Given the description of an element on the screen output the (x, y) to click on. 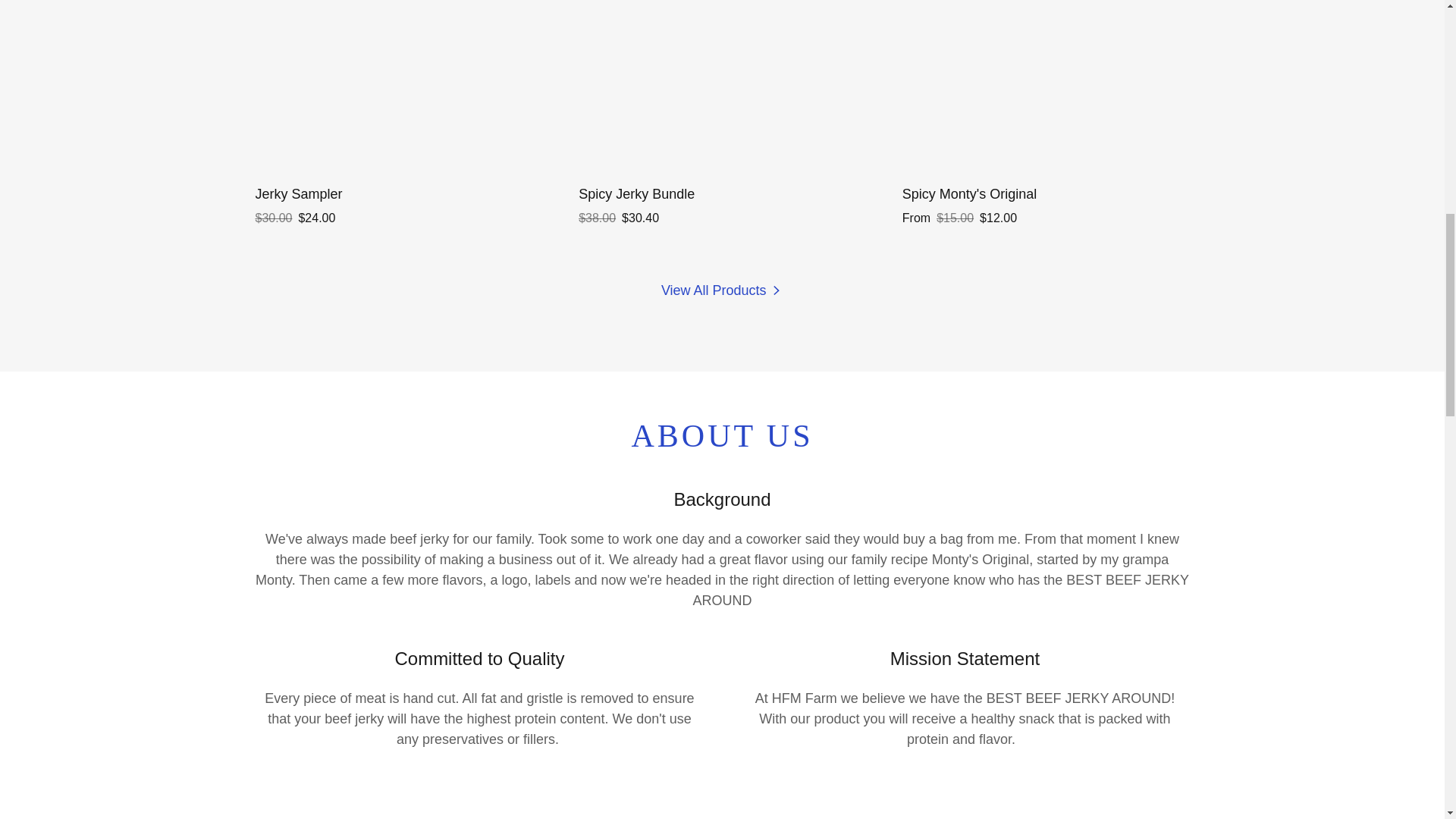
View All Products (722, 289)
